Given the description of an element on the screen output the (x, y) to click on. 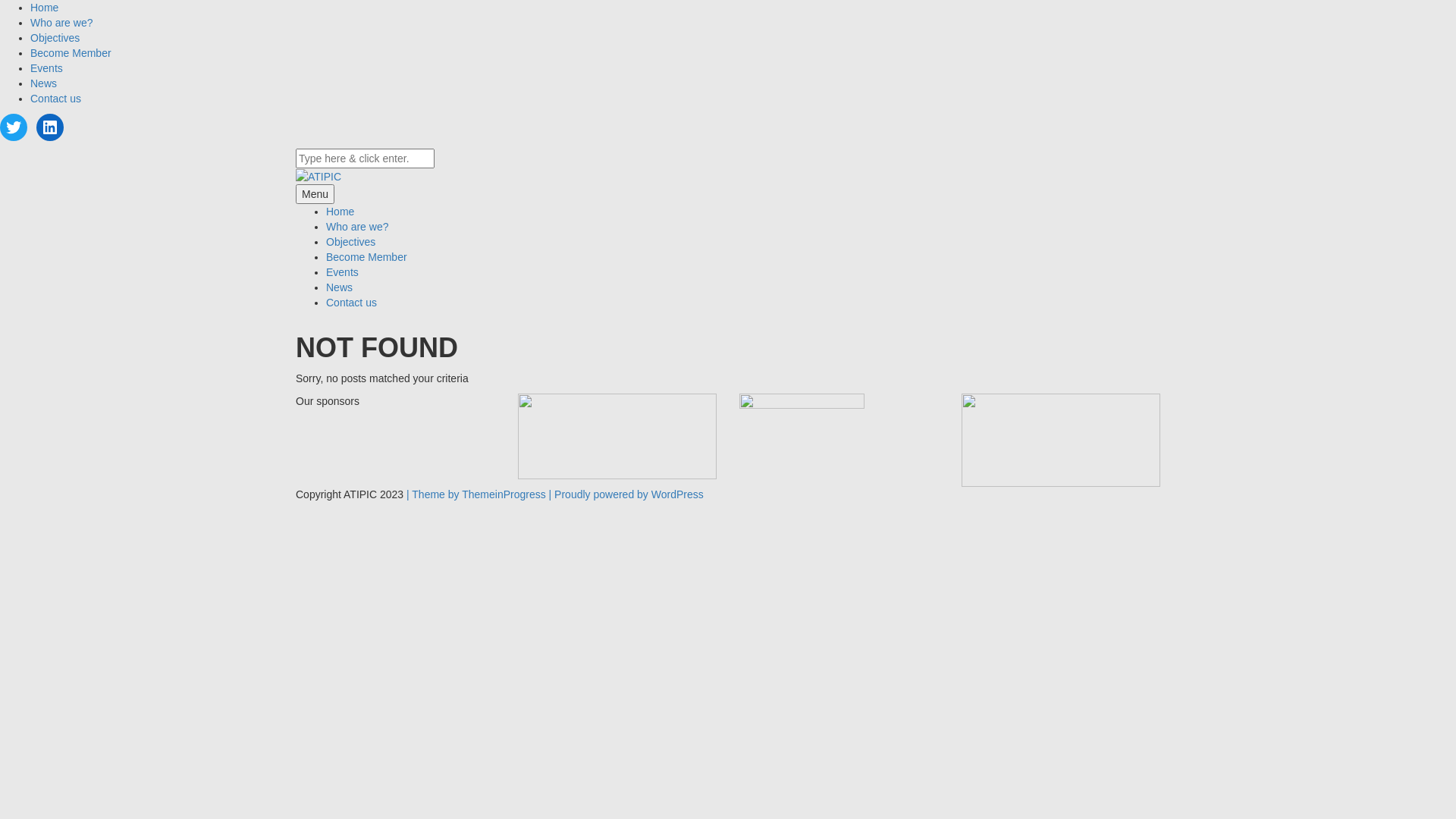
Become Member Element type: text (70, 53)
https://twitter.com/ATIPIC6 Element type: text (13, 127)
Events Element type: text (46, 68)
Menu Element type: text (314, 193)
News Element type: text (43, 83)
Who are we? Element type: text (61, 22)
News Element type: text (339, 287)
Objectives Element type: text (54, 37)
Objectives Element type: text (350, 241)
Contact us Element type: text (351, 302)
Events Element type: text (342, 272)
Home Element type: text (44, 7)
| Proudly powered by WordPress Element type: text (626, 494)
Become Member Element type: text (366, 257)
| Theme by ThemeinProgress Element type: text (476, 494)
LinkedIn Element type: text (49, 127)
Who are we? Element type: text (357, 226)
Contact us Element type: text (55, 98)
Home Element type: text (340, 211)
